Given the description of an element on the screen output the (x, y) to click on. 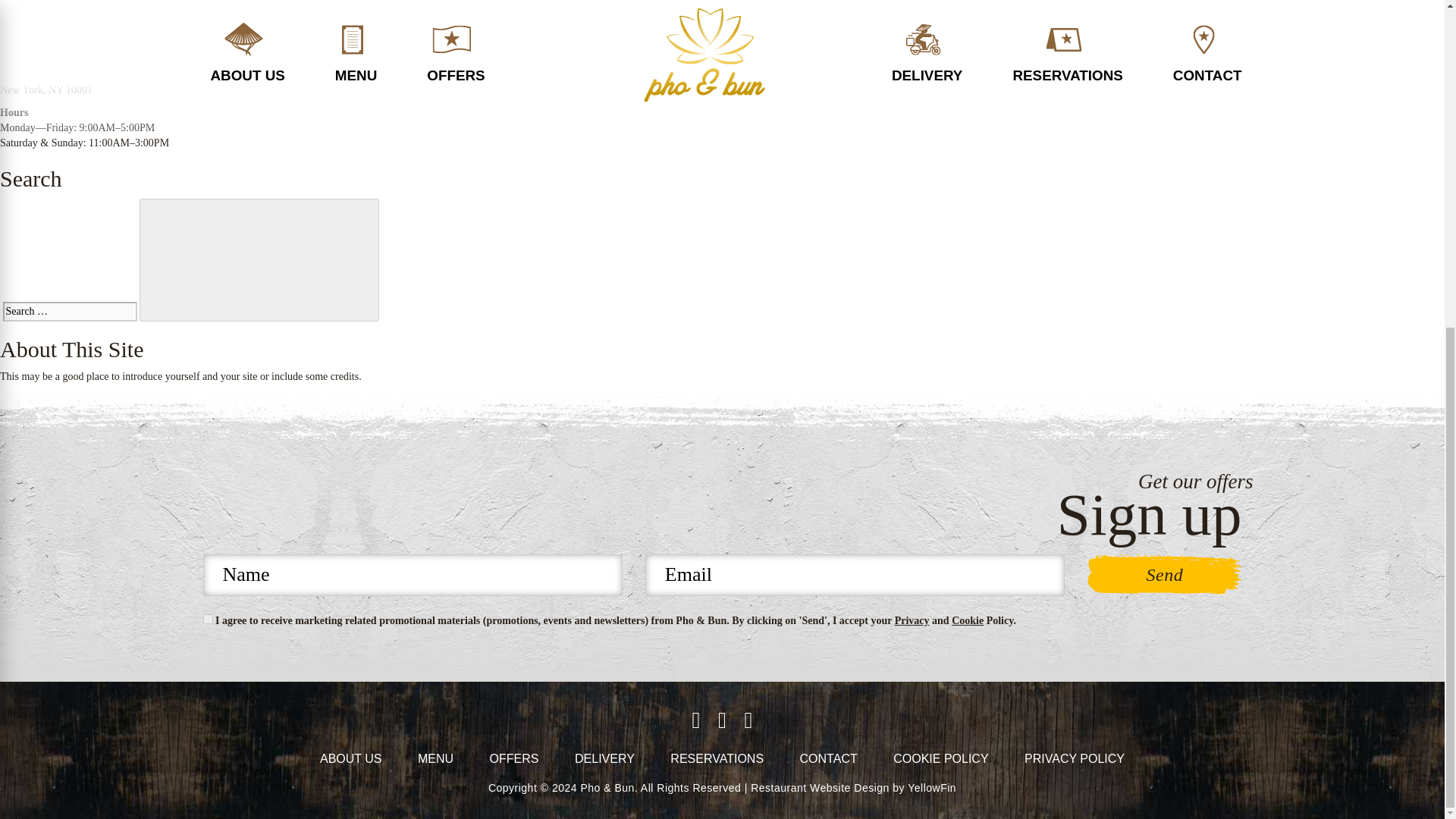
ABOUT US (350, 758)
Search (258, 260)
1 (207, 619)
MENU (434, 758)
Restaurant Website Design (820, 787)
CONTACT (828, 758)
DELIVERY (604, 758)
Send (1164, 575)
Cookie (968, 620)
PRIVACY POLICY (1074, 758)
